Given the description of an element on the screen output the (x, y) to click on. 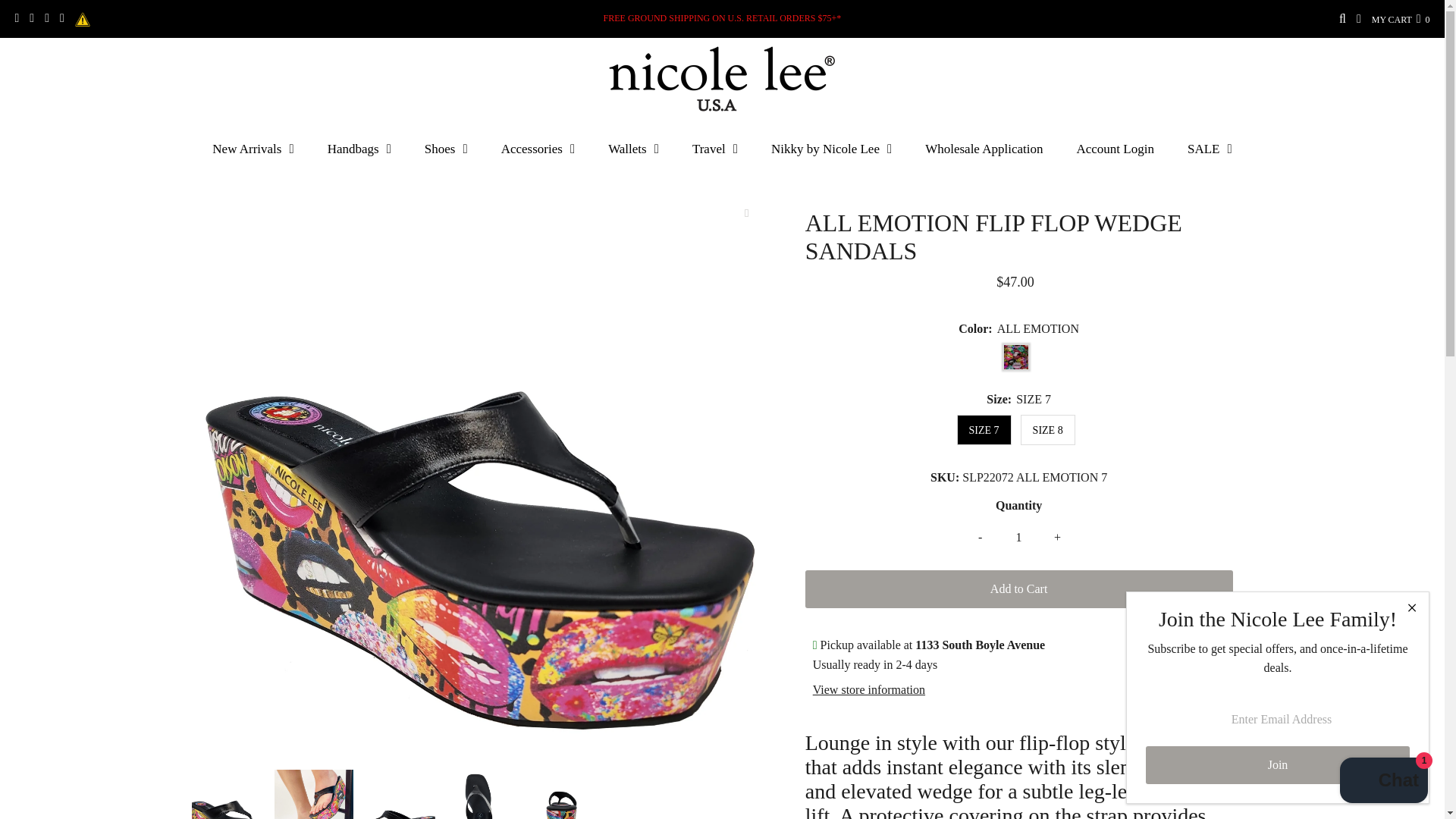
1 (1019, 537)
New Arrivals (252, 148)
Join (1277, 764)
MY CART    0 (1400, 19)
Add to Cart (1019, 589)
